Given the description of an element on the screen output the (x, y) to click on. 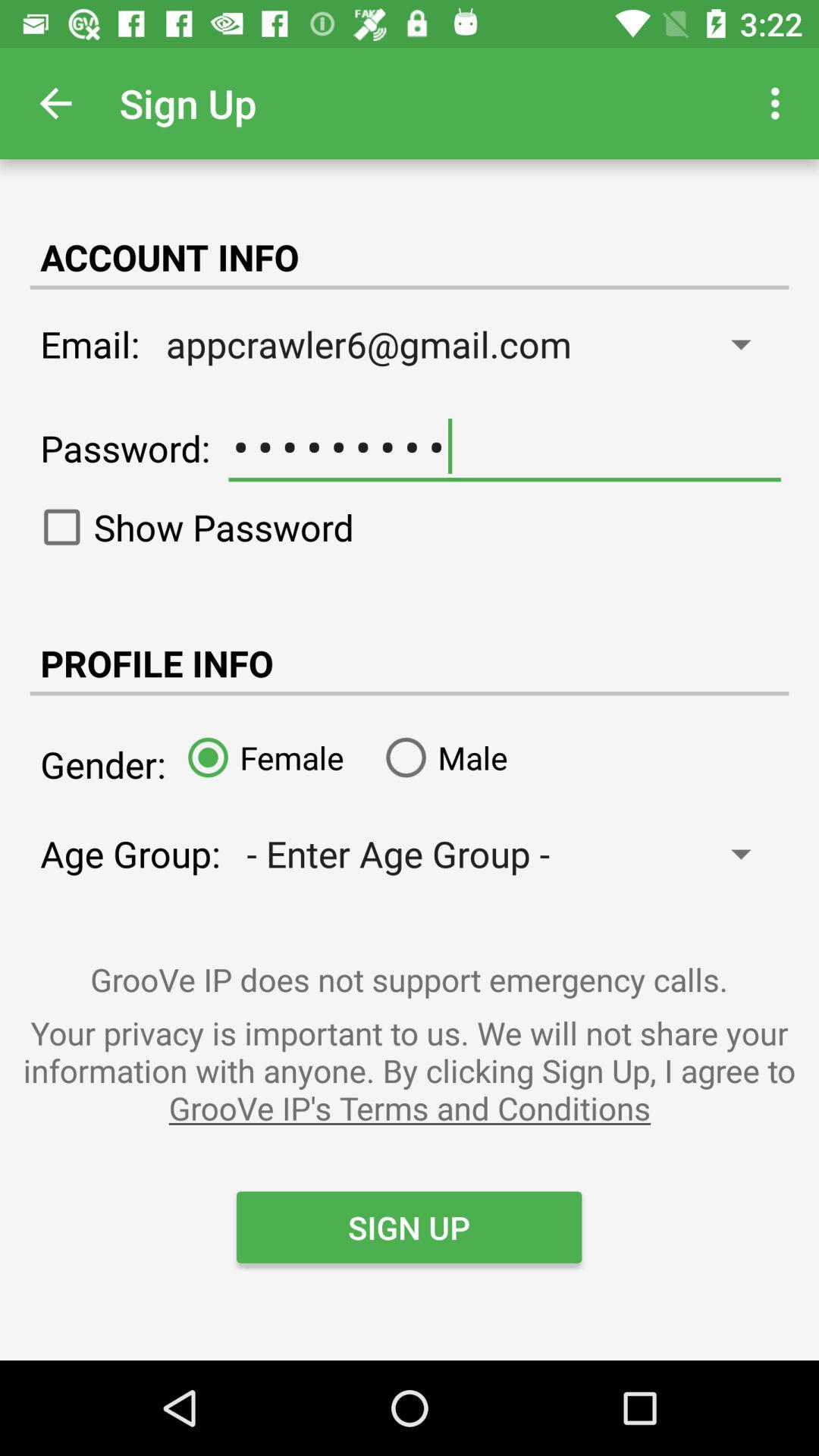
click item above account info (55, 103)
